Given the description of an element on the screen output the (x, y) to click on. 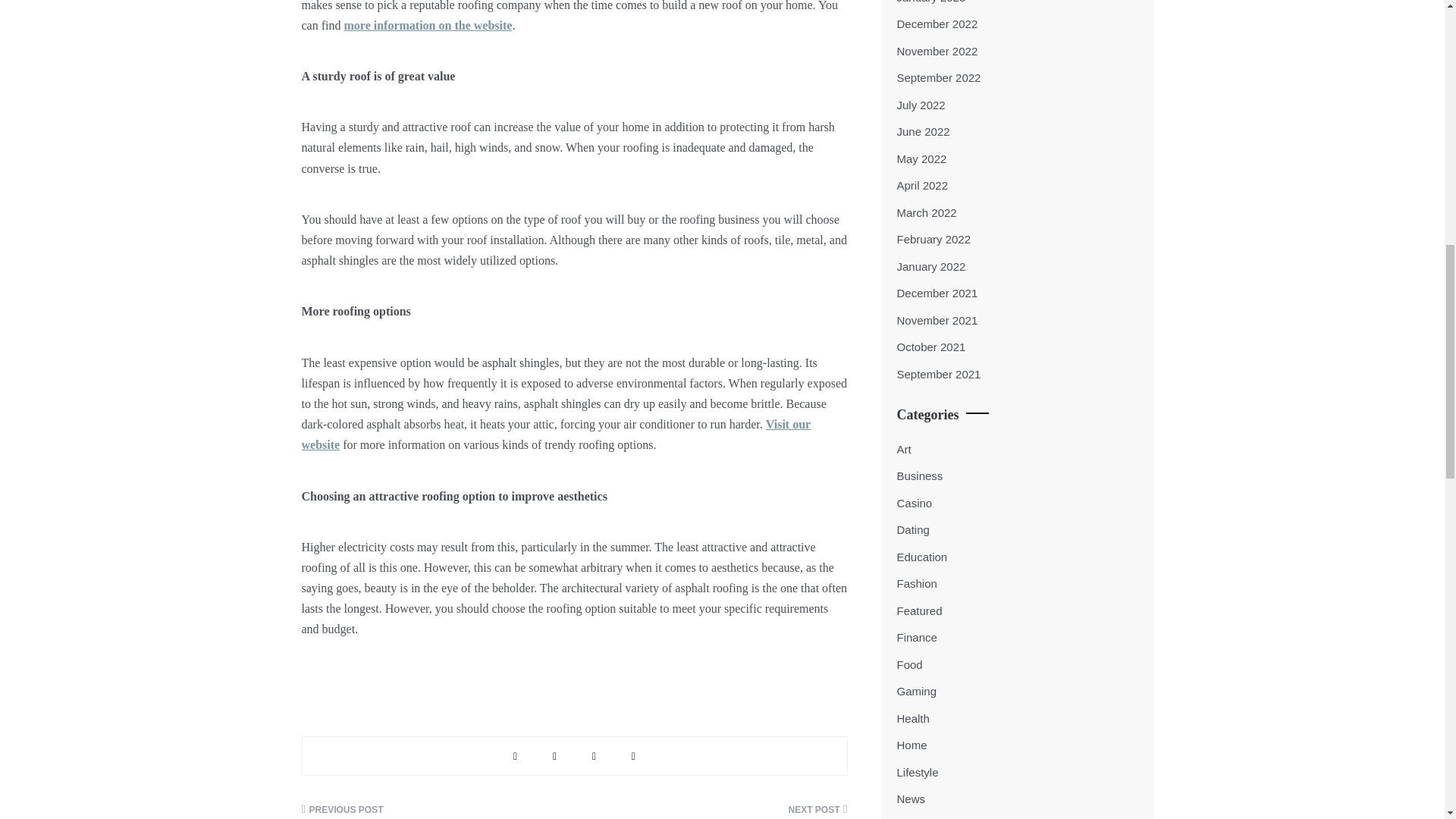
The Main One-Stop Look For All Gaming Needs (432, 810)
more information on the website (427, 24)
Keeping homes secured when you are doing Work from Home (716, 810)
Visit our website (555, 434)
